Given the description of an element on the screen output the (x, y) to click on. 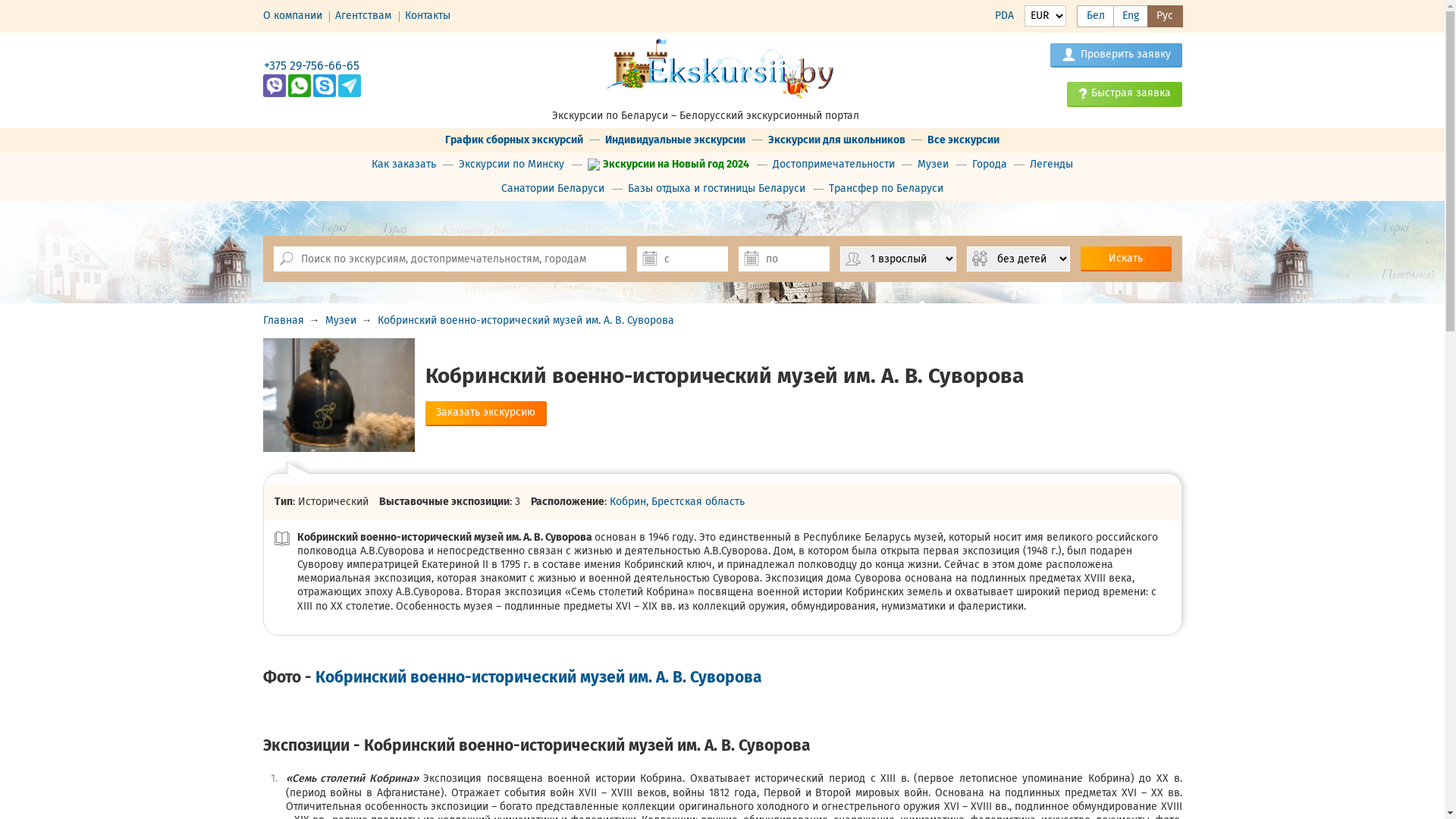
PDA Element type: text (1003, 15)
Eng Element type: text (1130, 16)
+375 29-756-66-65 Element type: text (311, 65)
